Given the description of an element on the screen output the (x, y) to click on. 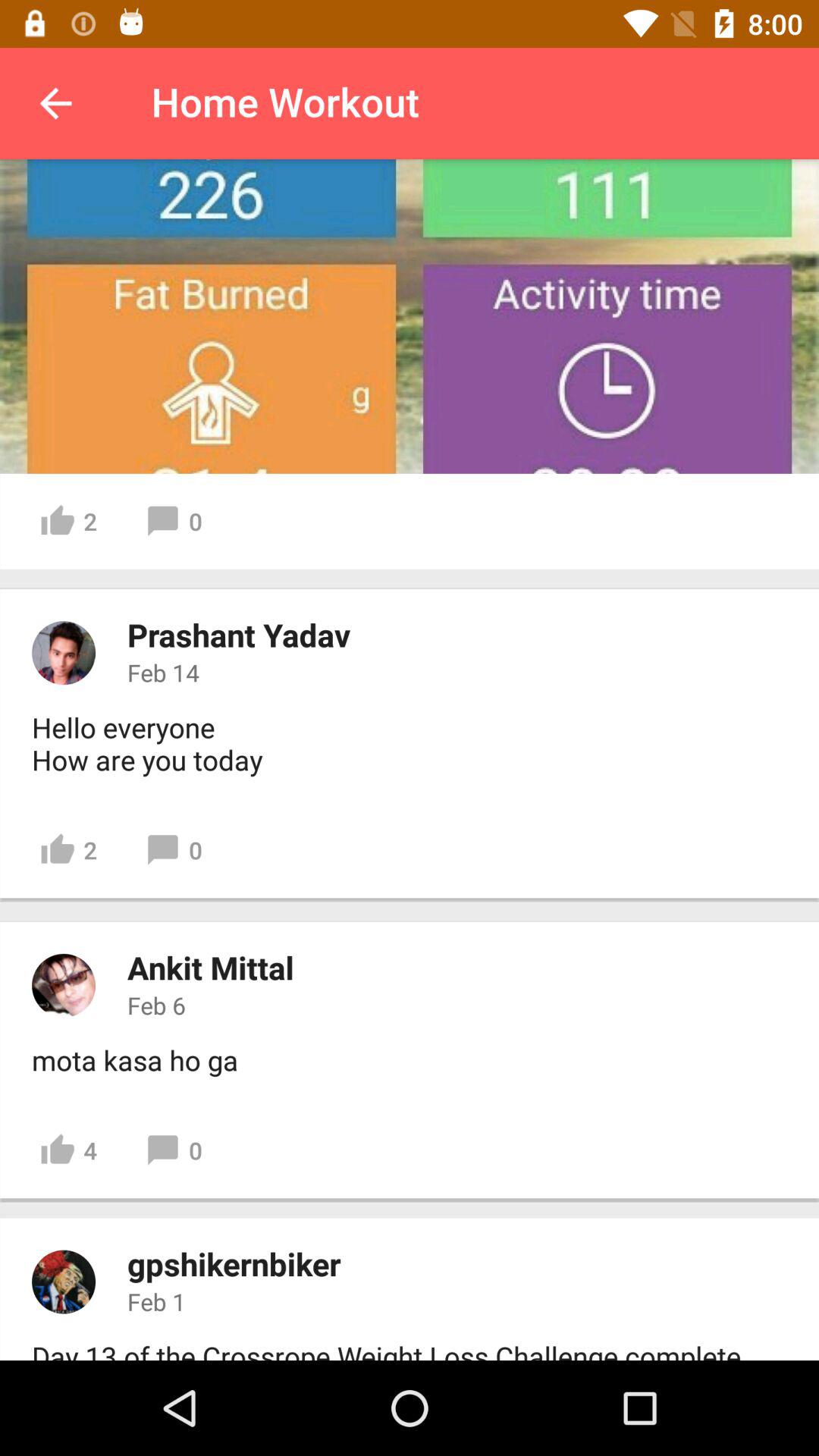
click day 13 of item (389, 1348)
